Given the description of an element on the screen output the (x, y) to click on. 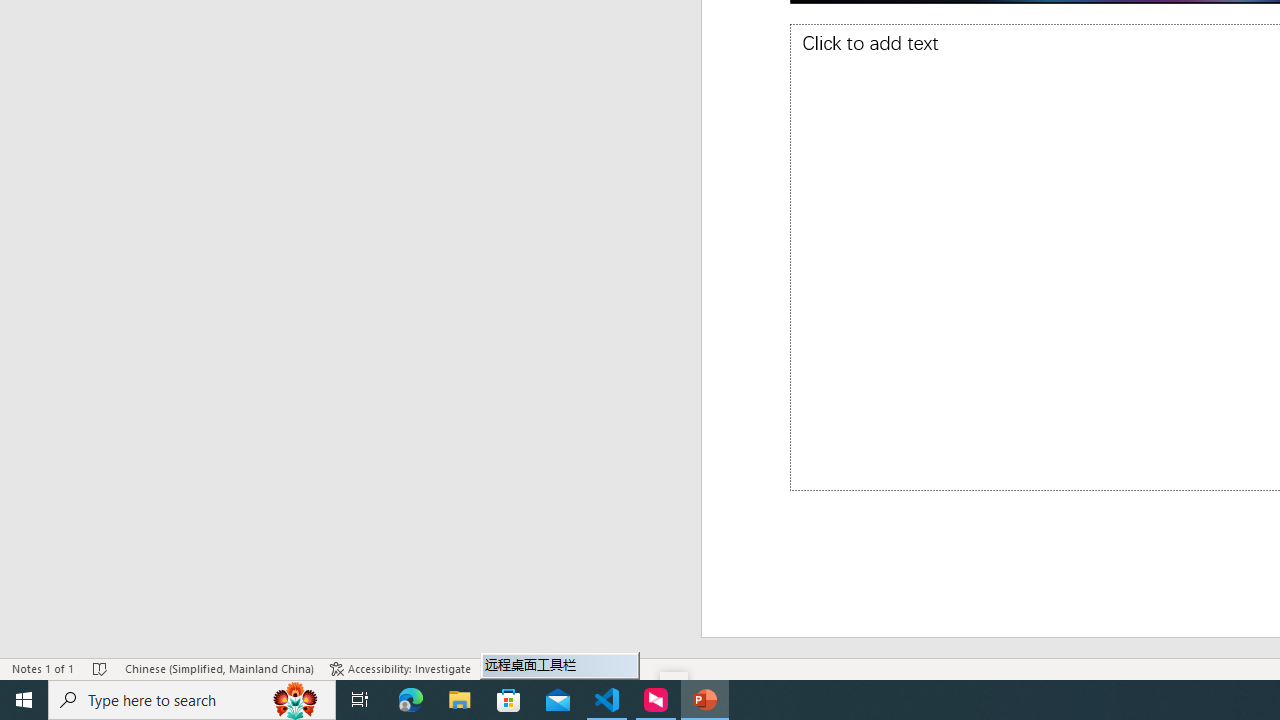
File Explorer (460, 699)
Microsoft Edge (411, 699)
PowerPoint - 1 running window (704, 699)
